Given the description of an element on the screen output the (x, y) to click on. 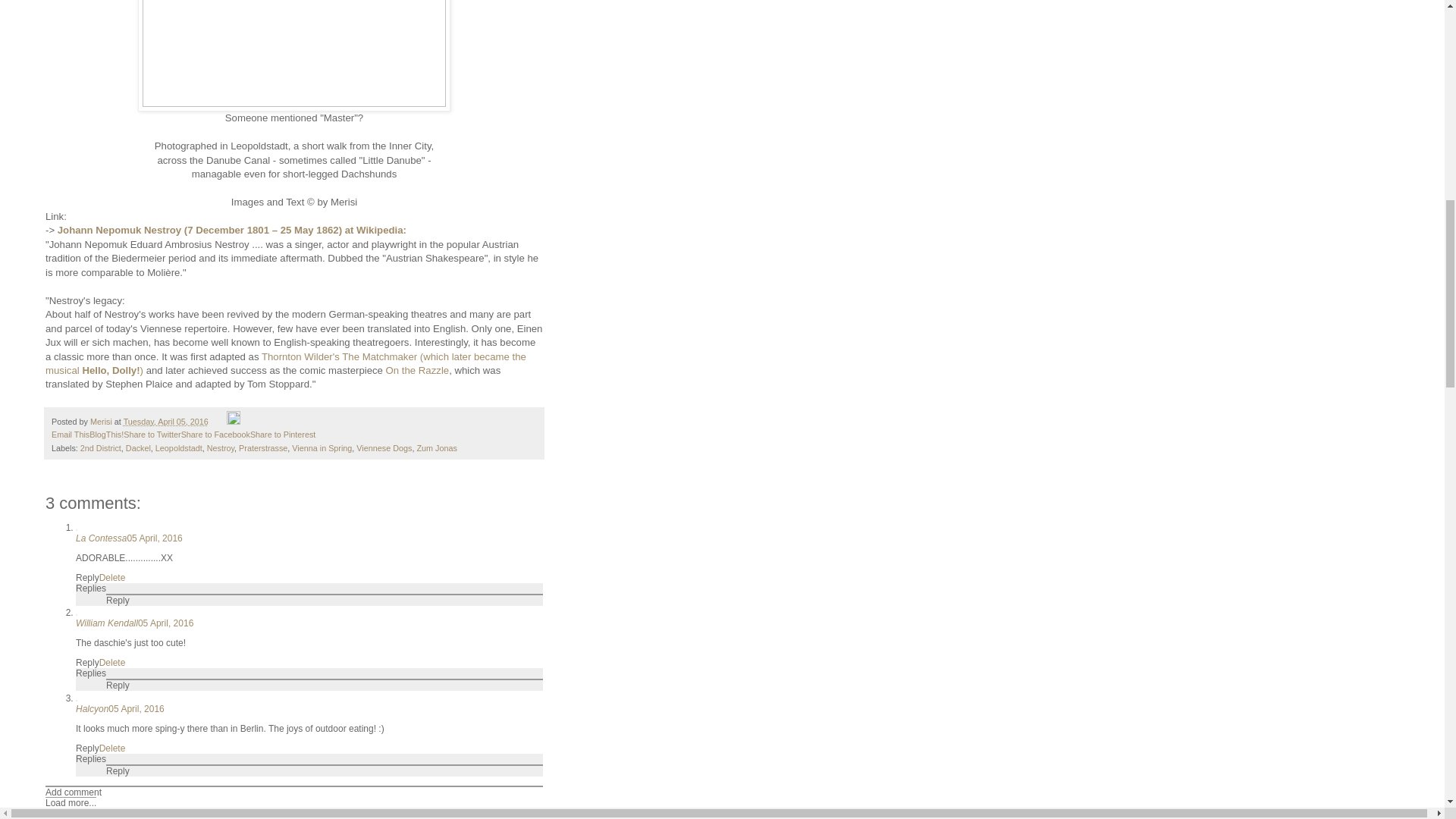
Viennese Dogs (384, 447)
Email Post (219, 420)
Share to Pinterest (282, 433)
Nestroy (220, 447)
Share to Twitter (151, 433)
Reply (117, 600)
BlogThis! (105, 433)
Share to Twitter (151, 433)
Email This (69, 433)
Replies (90, 588)
William Kendall (106, 623)
Share to Pinterest (282, 433)
2nd District (100, 447)
Share to Facebook (215, 433)
Vienna in Spring (322, 447)
